Given the description of an element on the screen output the (x, y) to click on. 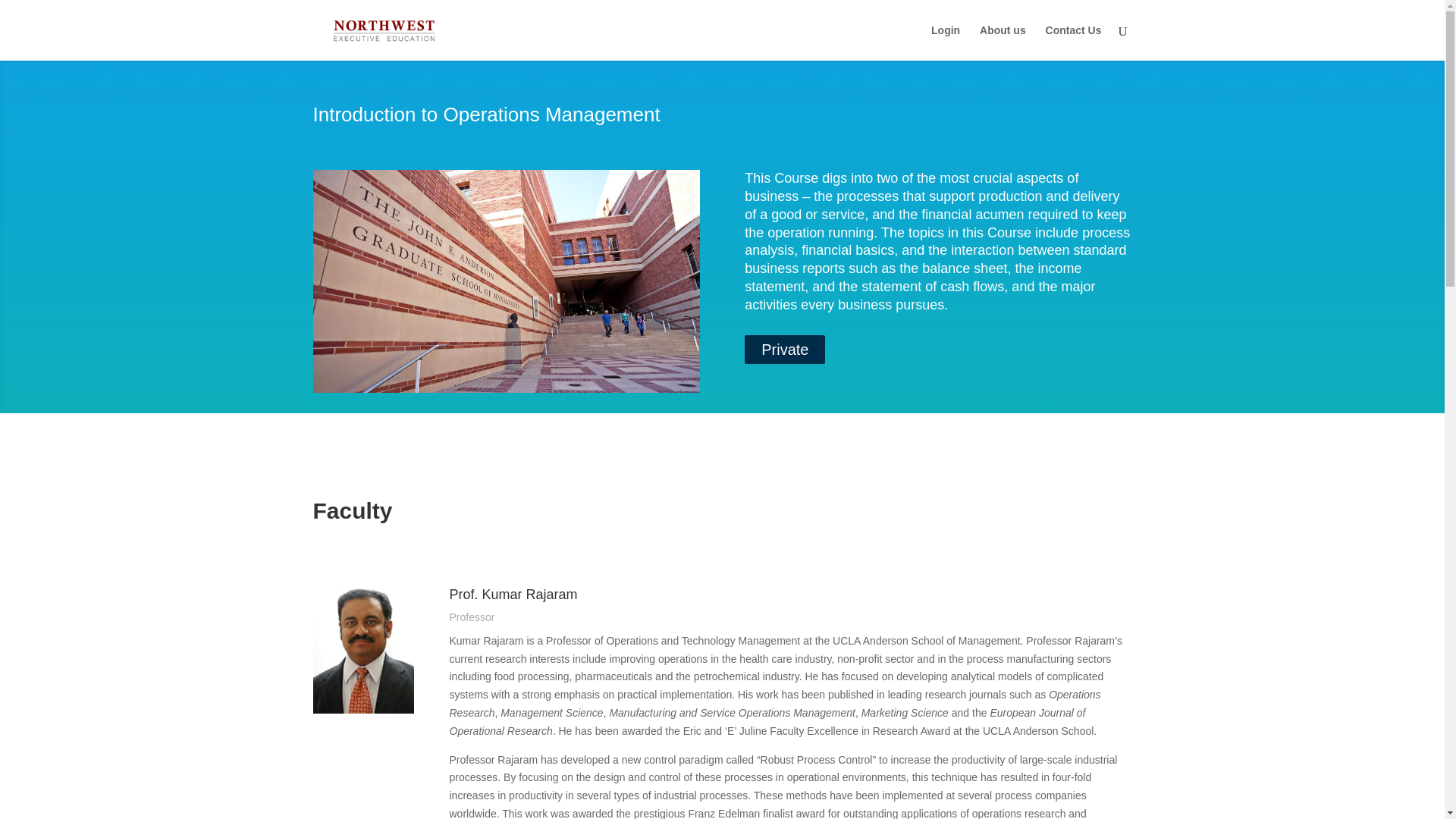
Private (784, 348)
Contact Us (1073, 42)
About us (1002, 42)
